Given the description of an element on the screen output the (x, y) to click on. 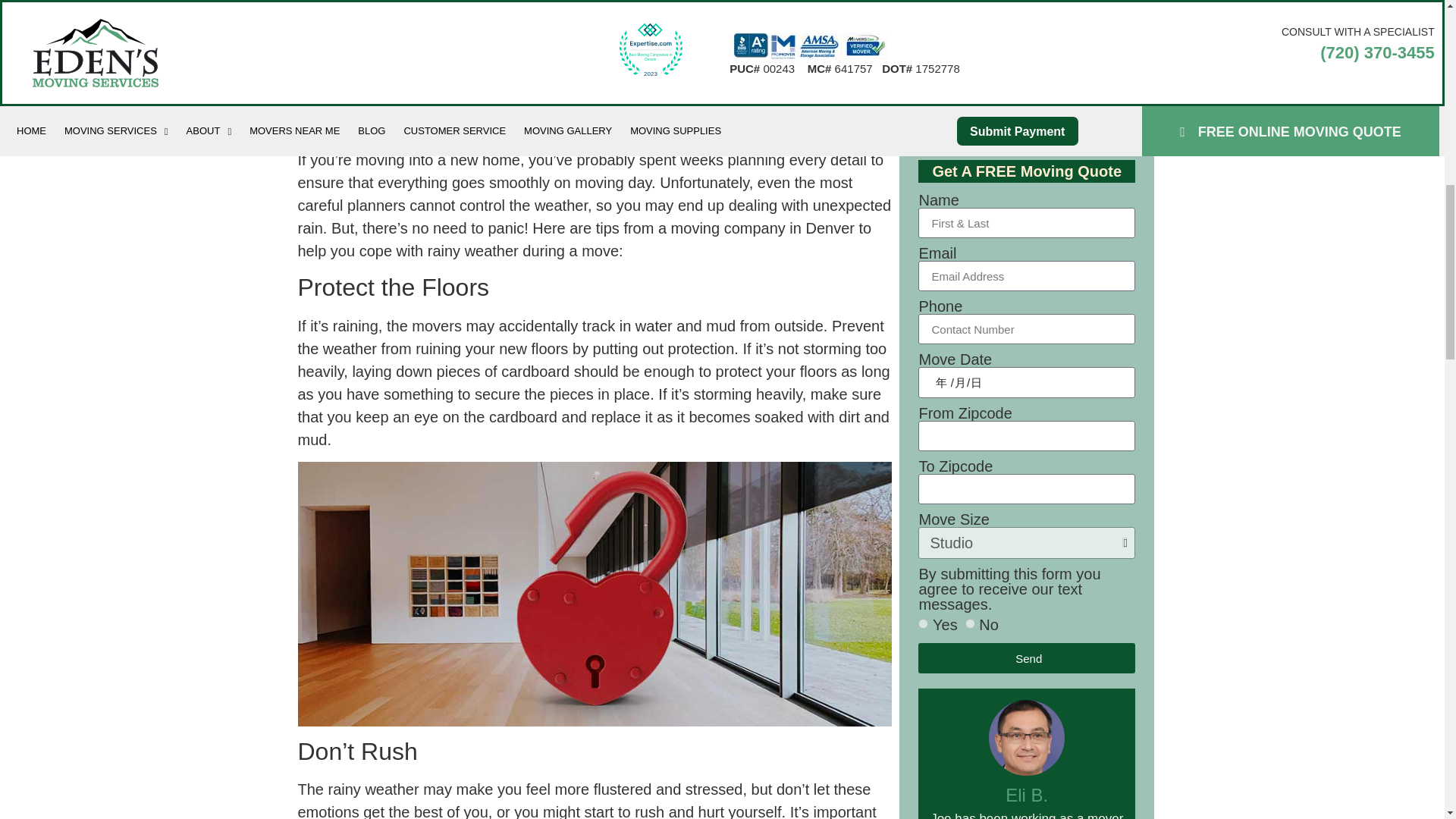
No (970, 623)
Yes (923, 623)
